Given the description of an element on the screen output the (x, y) to click on. 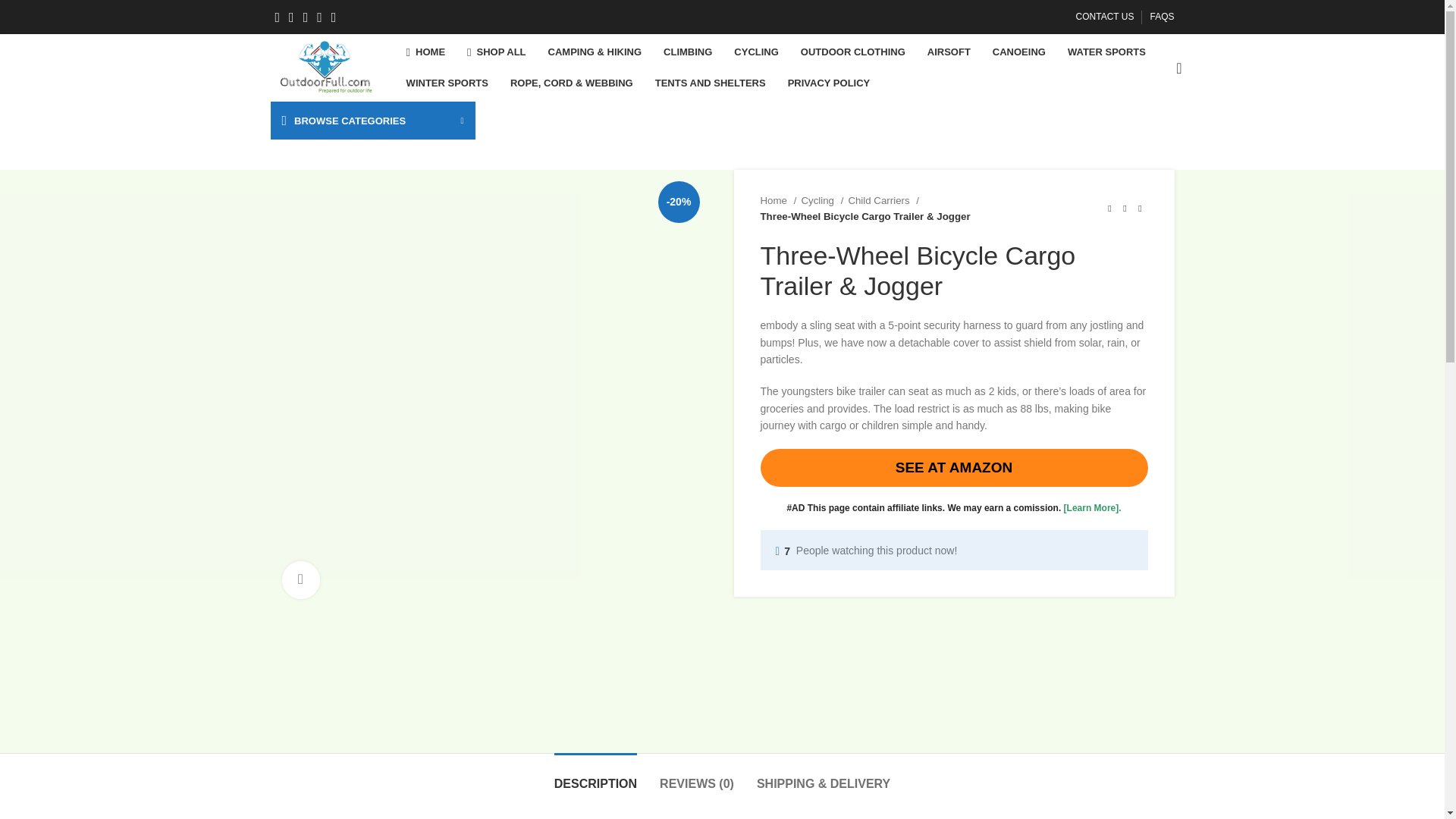
HOME (425, 51)
PRIVACY POLICY (828, 82)
SHOP ALL (496, 51)
TENTS AND SHELTERS (710, 82)
AIRSOFT (948, 51)
CANOEING (1019, 51)
CYCLING (756, 51)
OUTDOOR CLOTHING (853, 51)
CLIMBING (686, 51)
WATER SPORTS (1106, 51)
